Given the description of an element on the screen output the (x, y) to click on. 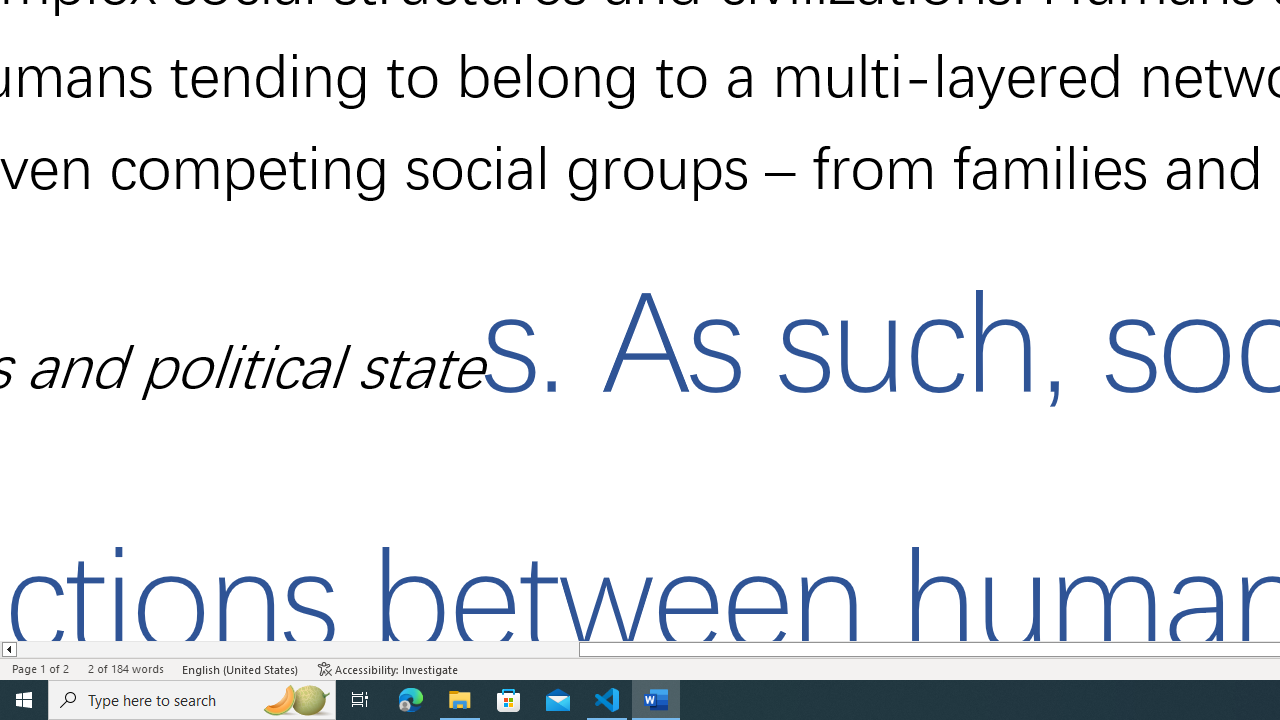
Page Number Page 1 of 2 (39, 668)
Language English (United States) (241, 668)
Column left (8, 649)
Page left (297, 649)
Accessibility Checker Accessibility: Investigate (388, 668)
